Given the description of an element on the screen output the (x, y) to click on. 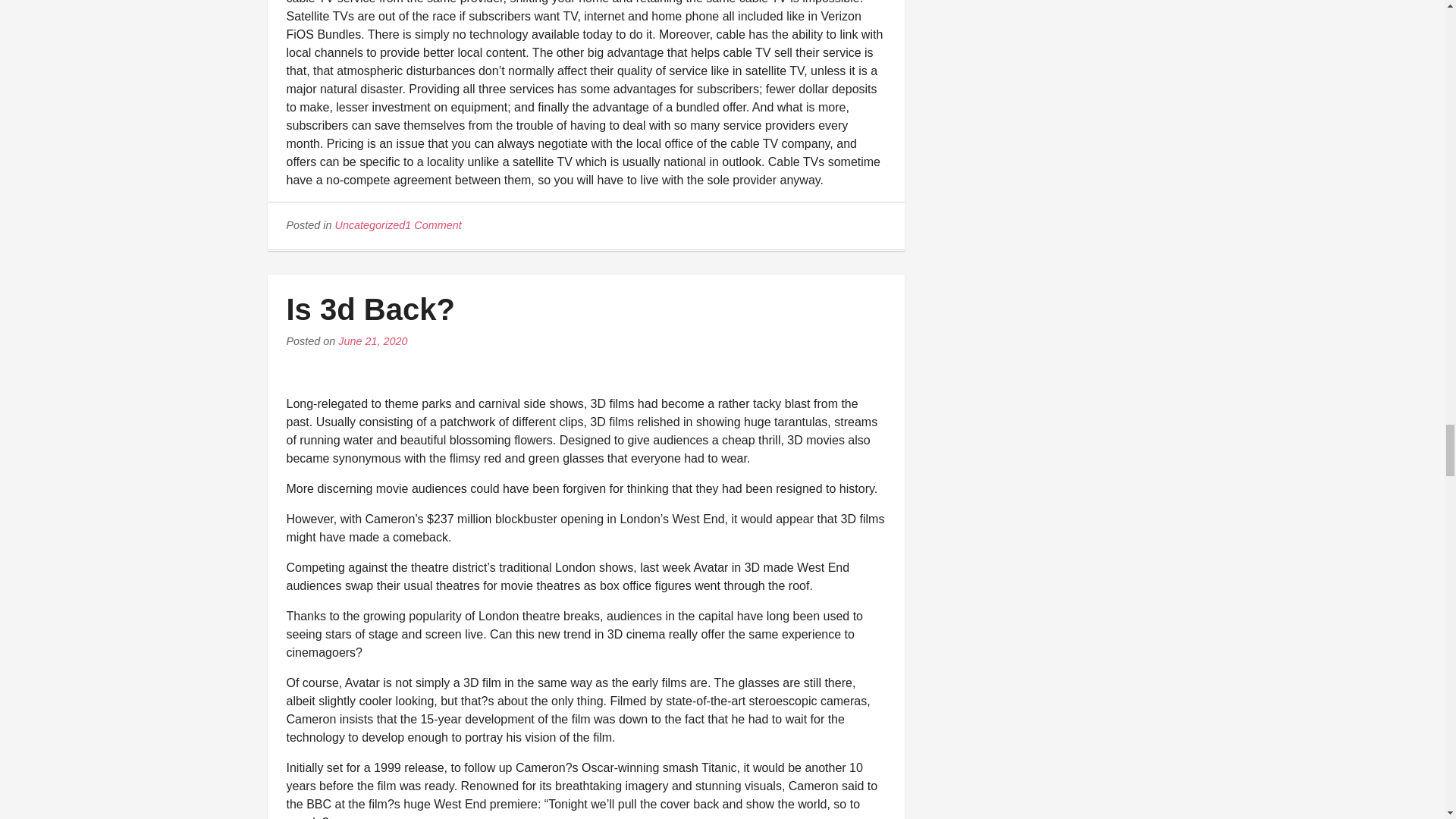
Uncategorized (370, 224)
Is 3d Back? (370, 308)
